Given the description of an element on the screen output the (x, y) to click on. 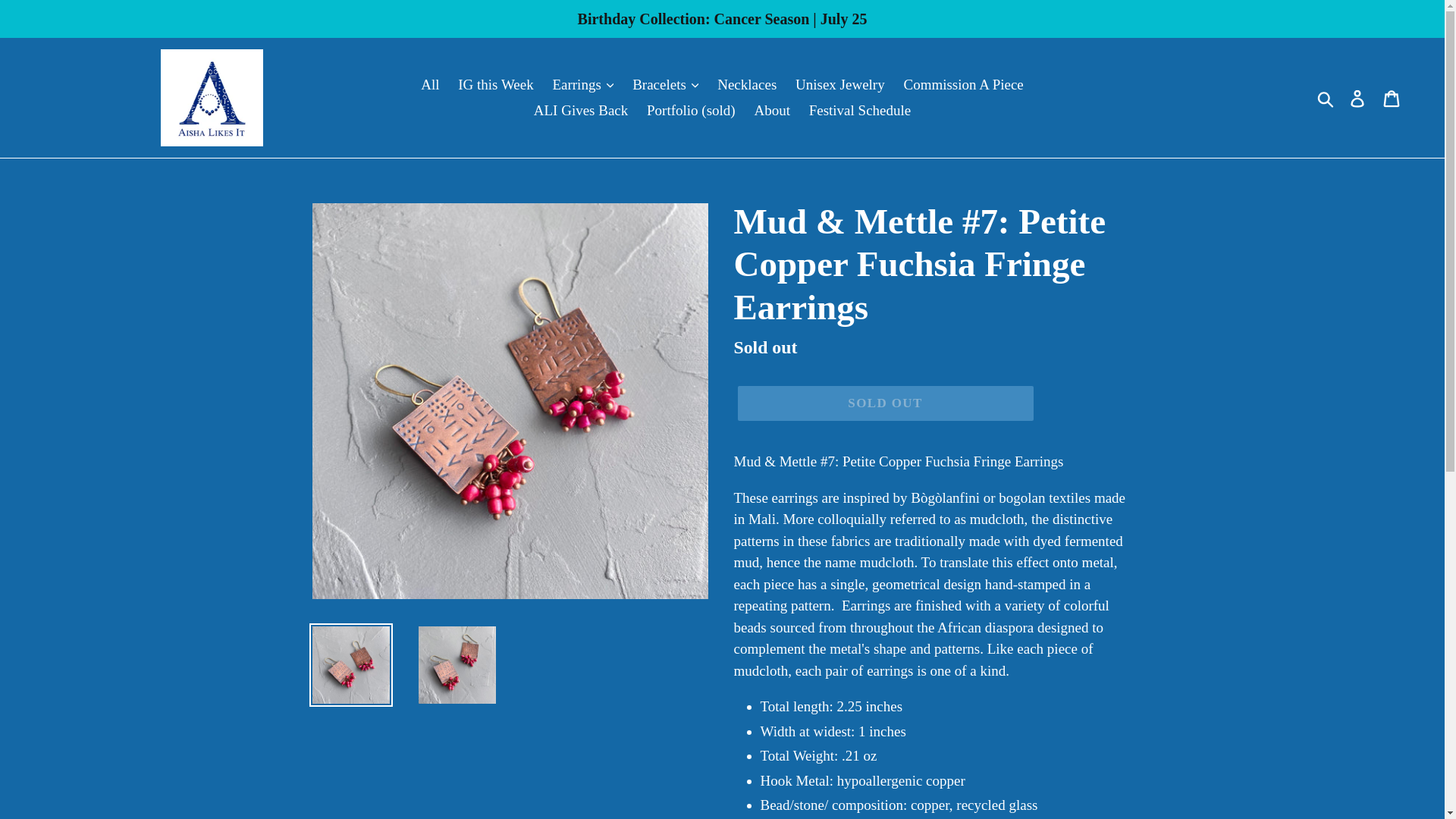
ALI Gives Back (580, 110)
Commission A Piece (962, 84)
IG this Week (494, 84)
Log in (1357, 98)
About (771, 110)
Necklaces (747, 84)
Unisex Jewelry (839, 84)
Submit (1326, 98)
Festival Schedule (860, 110)
All (429, 84)
